Given the description of an element on the screen output the (x, y) to click on. 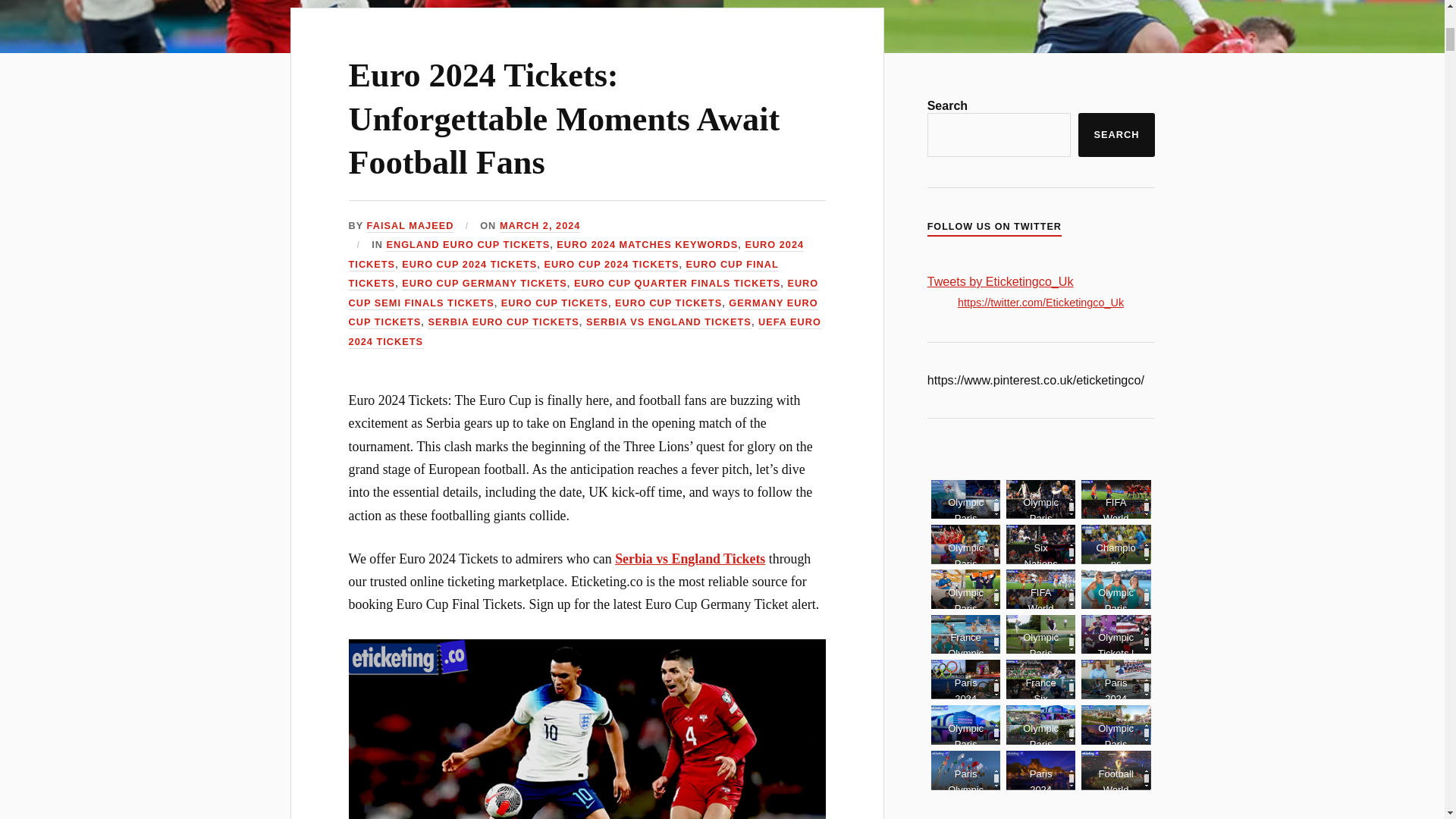
EURO 2024 TICKETS (577, 255)
EURO CUP FINAL TICKETS (563, 274)
Euro 2024 Tickets: Unforgettable Moments Await Football Fans (564, 118)
EURO 2024 MATCHES KEYWORDS (647, 245)
Posts by Faisal Majeed (410, 226)
MARCH 2, 2024 (539, 226)
ENGLAND EURO CUP TICKETS (467, 245)
EURO CUP 2024 TICKETS (610, 264)
EURO CUP 2024 TICKETS (469, 264)
FAISAL MAJEED (410, 226)
